Given the description of an element on the screen output the (x, y) to click on. 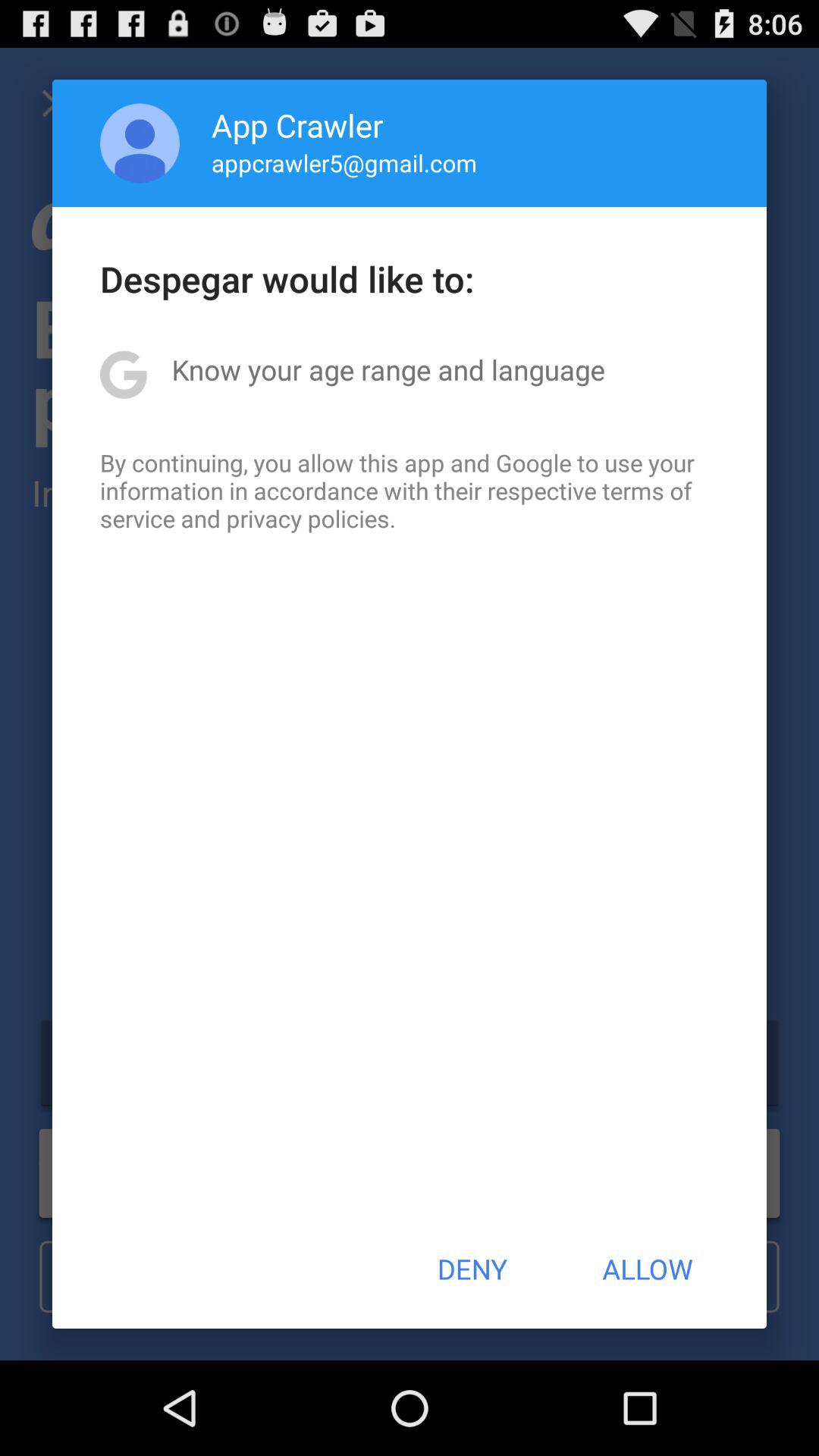
scroll to the appcrawler5@gmail.com (344, 162)
